Given the description of an element on the screen output the (x, y) to click on. 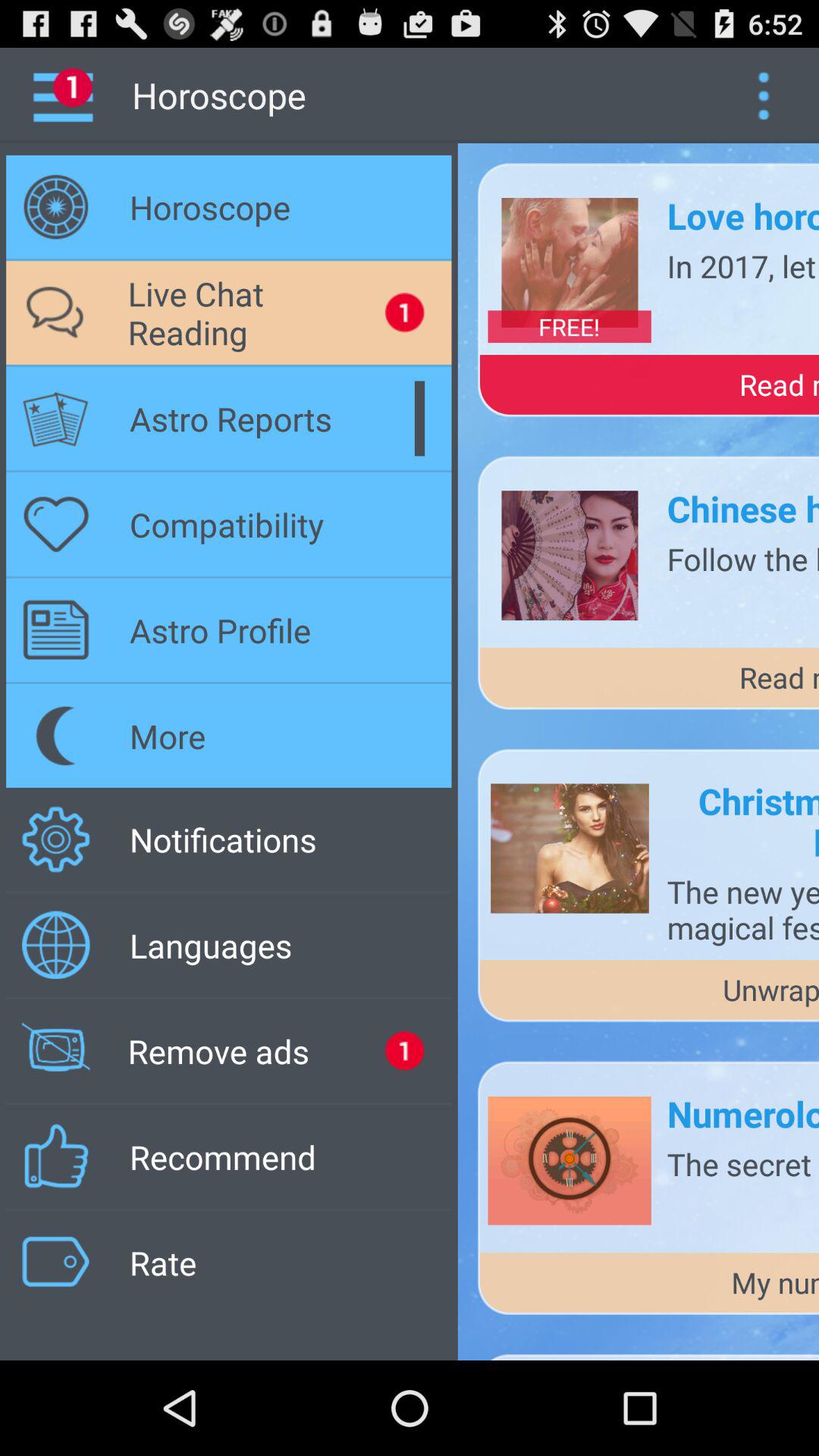
flip until in 2017 let (743, 265)
